Given the description of an element on the screen output the (x, y) to click on. 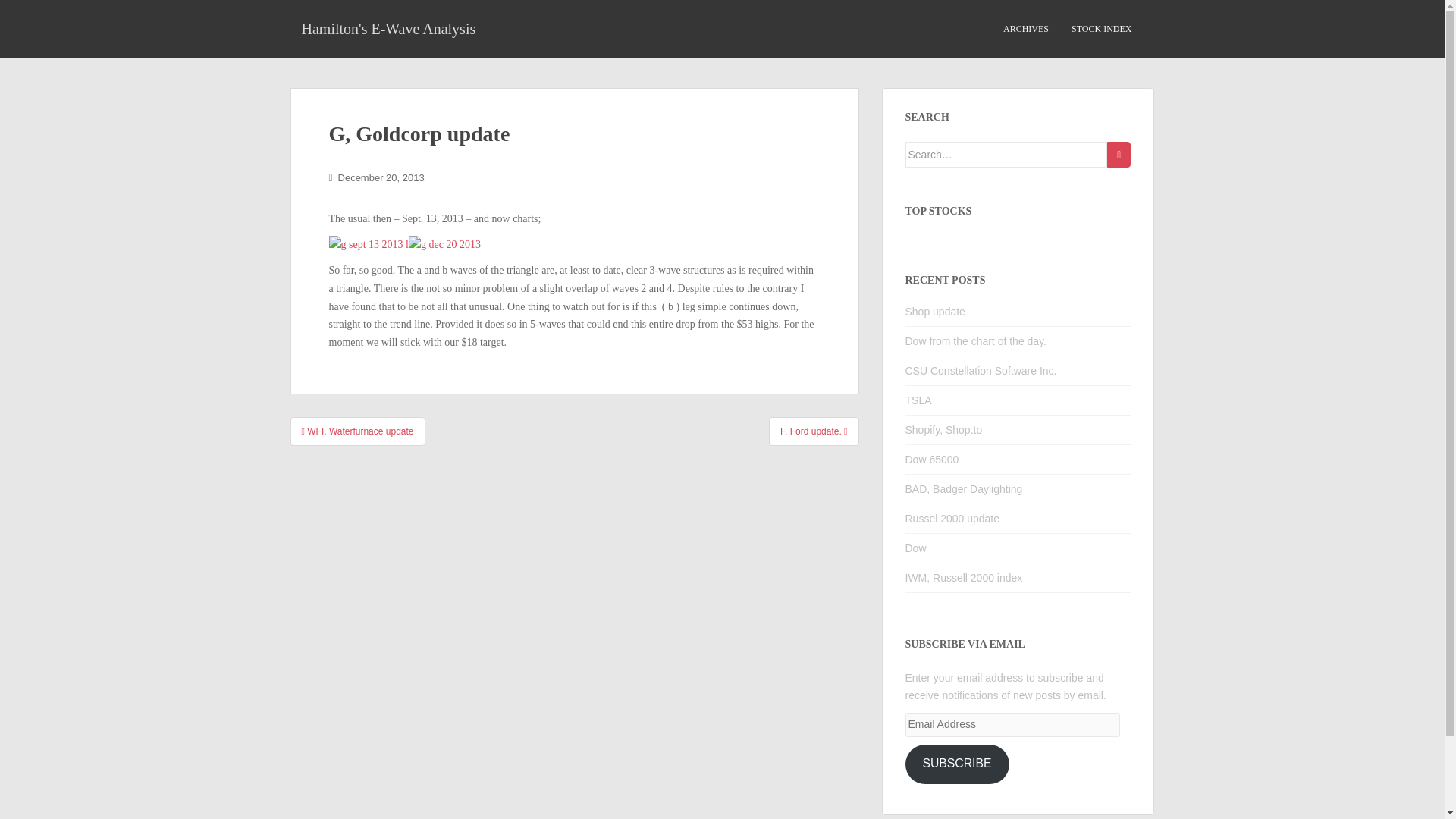
December 20, 2013 (381, 177)
F, Ford update. (813, 430)
Search for: (1006, 154)
Search (1118, 154)
g dec 20 2013 (444, 244)
Hamilton's E-Wave Analysis (387, 28)
Stock Index (1100, 28)
STOCK INDEX (1100, 28)
g sept 13 2013 l (369, 244)
WFI, Waterfurnace update (357, 430)
